Given the description of an element on the screen output the (x, y) to click on. 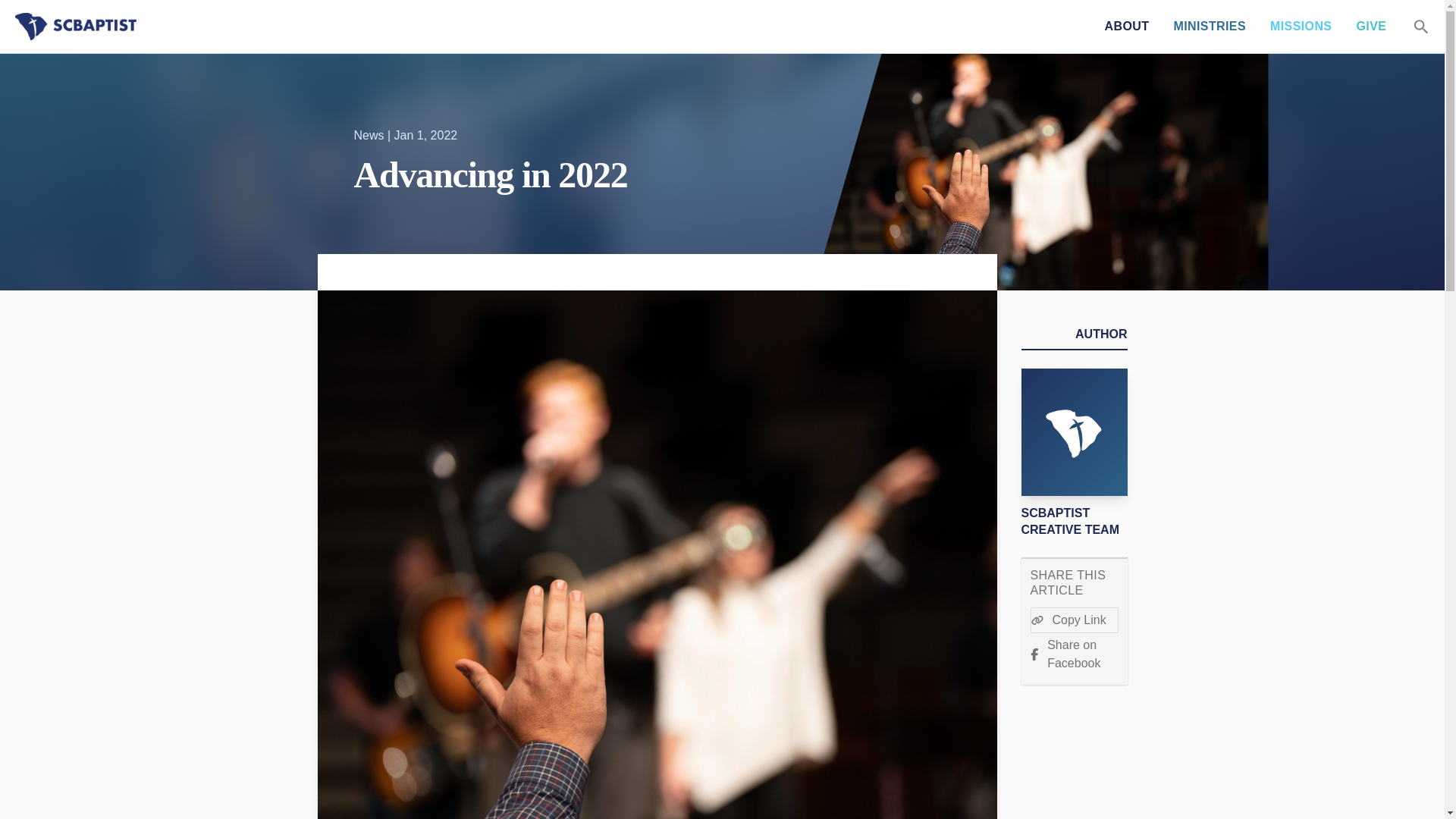
ABOUT (1127, 26)
